Given the description of an element on the screen output the (x, y) to click on. 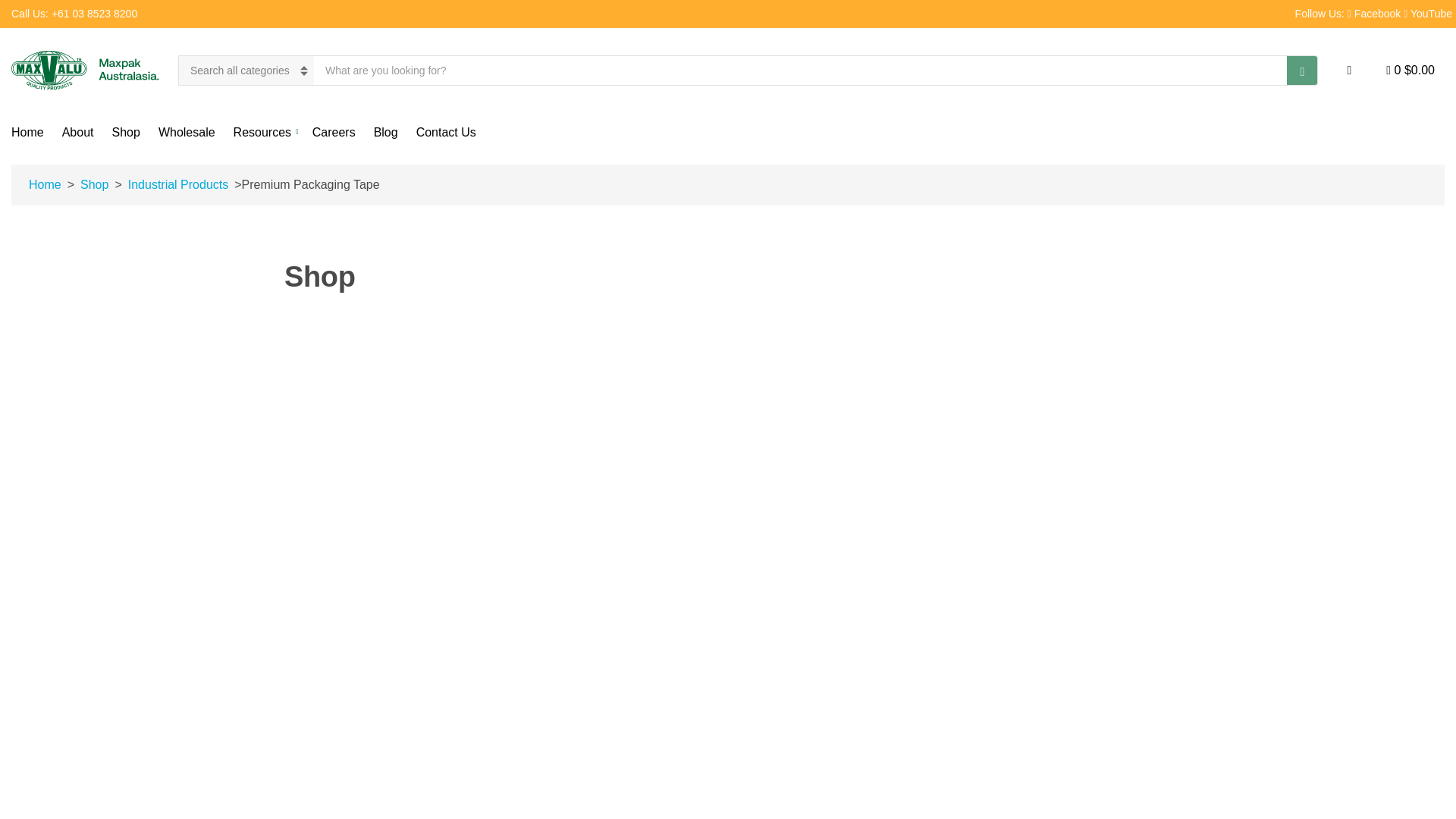
Shop (94, 185)
Careers (334, 132)
Industrial Products (178, 185)
 YouTube (1427, 13)
Search (1302, 70)
Resources (263, 132)
Home (44, 185)
Wholesale (186, 132)
Contact Us (446, 132)
 Facebook (1374, 13)
